Given the description of an element on the screen output the (x, y) to click on. 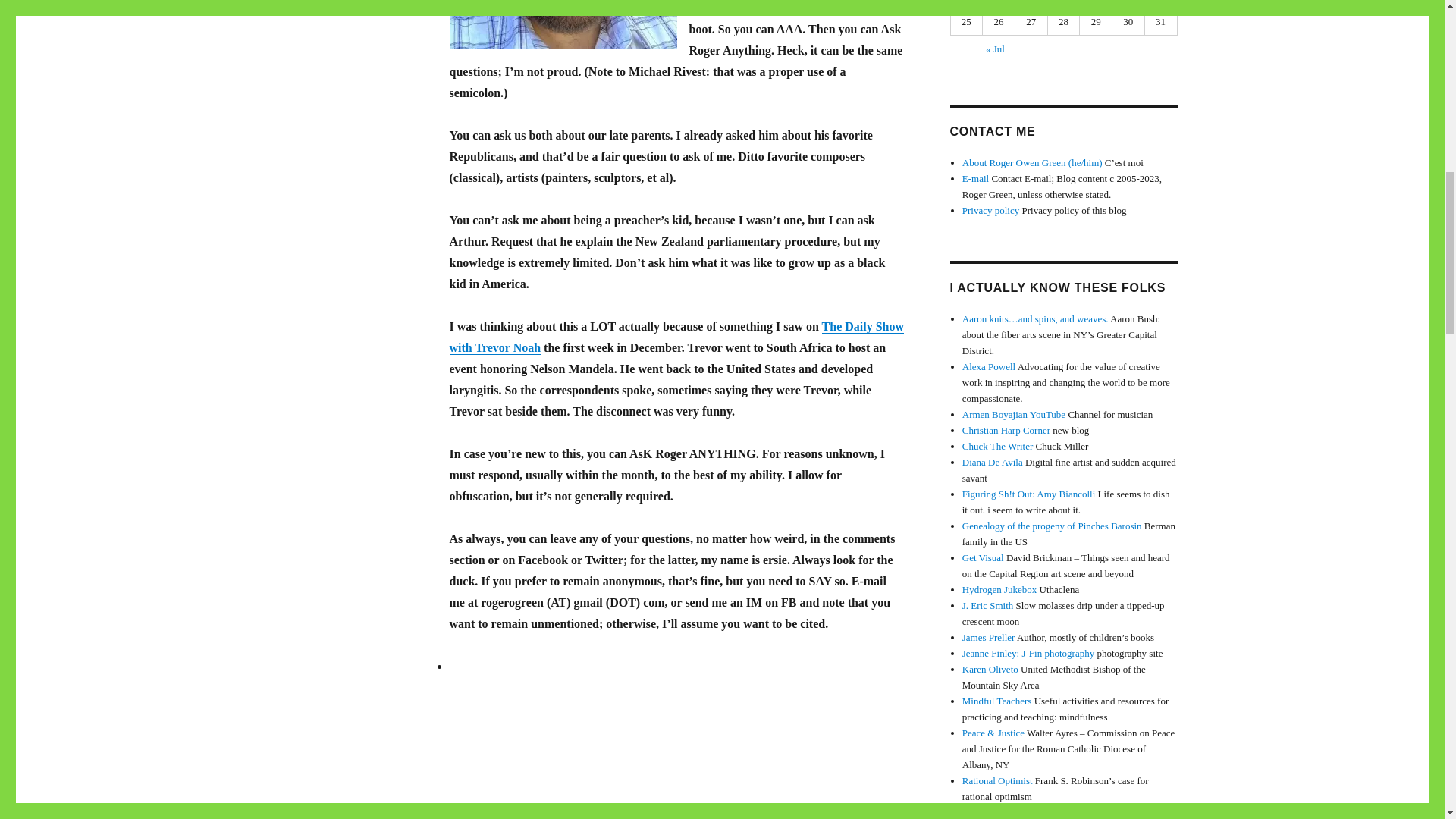
22 (998, 3)
26 (1128, 3)
24 (1064, 3)
new blog (1005, 430)
23 (1030, 3)
25 (1096, 3)
Channel for musician (1013, 414)
Chuck Miller (997, 446)
